Given the description of an element on the screen output the (x, y) to click on. 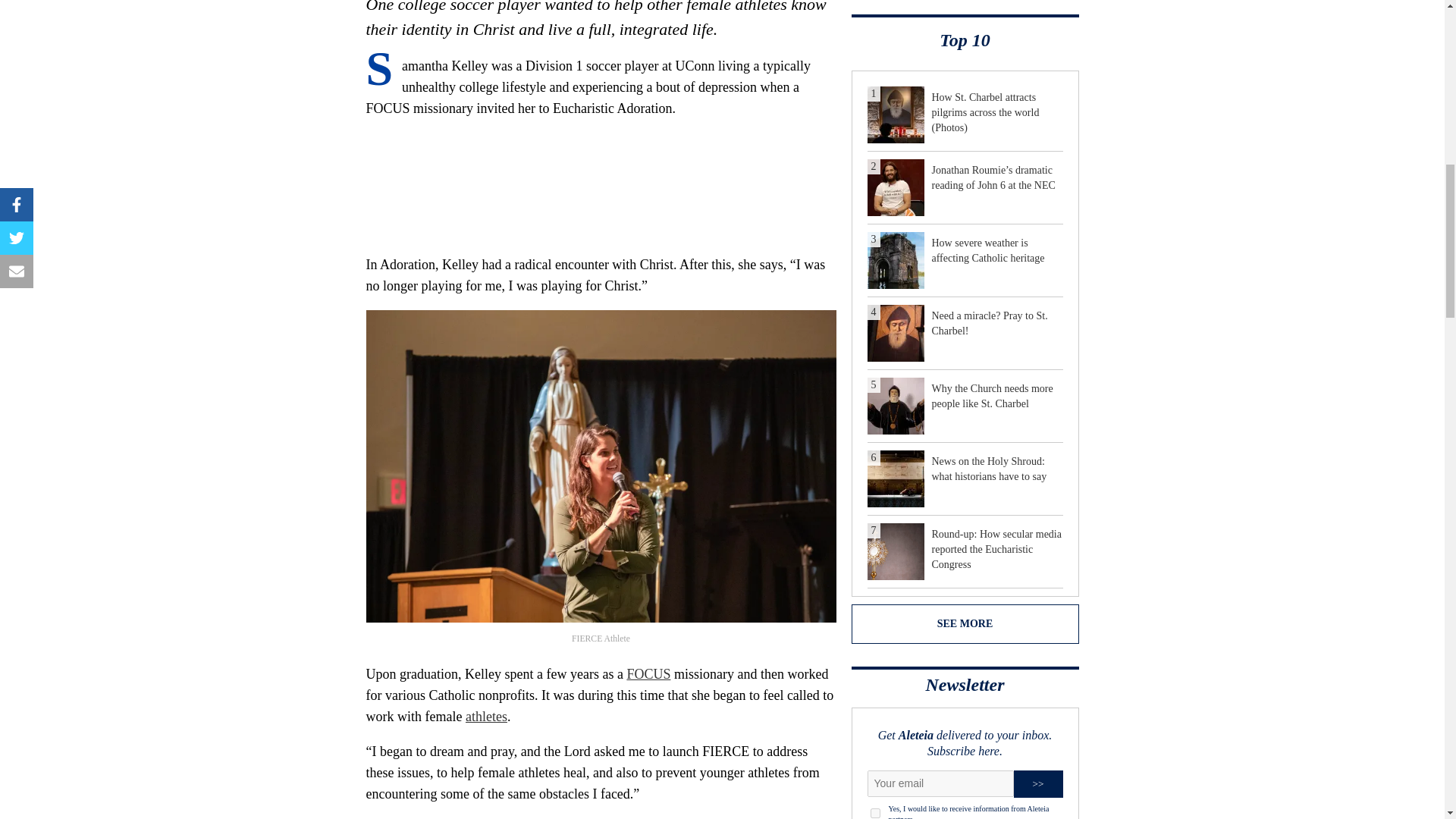
1 (875, 813)
athletes (485, 716)
FOCUS (647, 673)
